Given the description of an element on the screen output the (x, y) to click on. 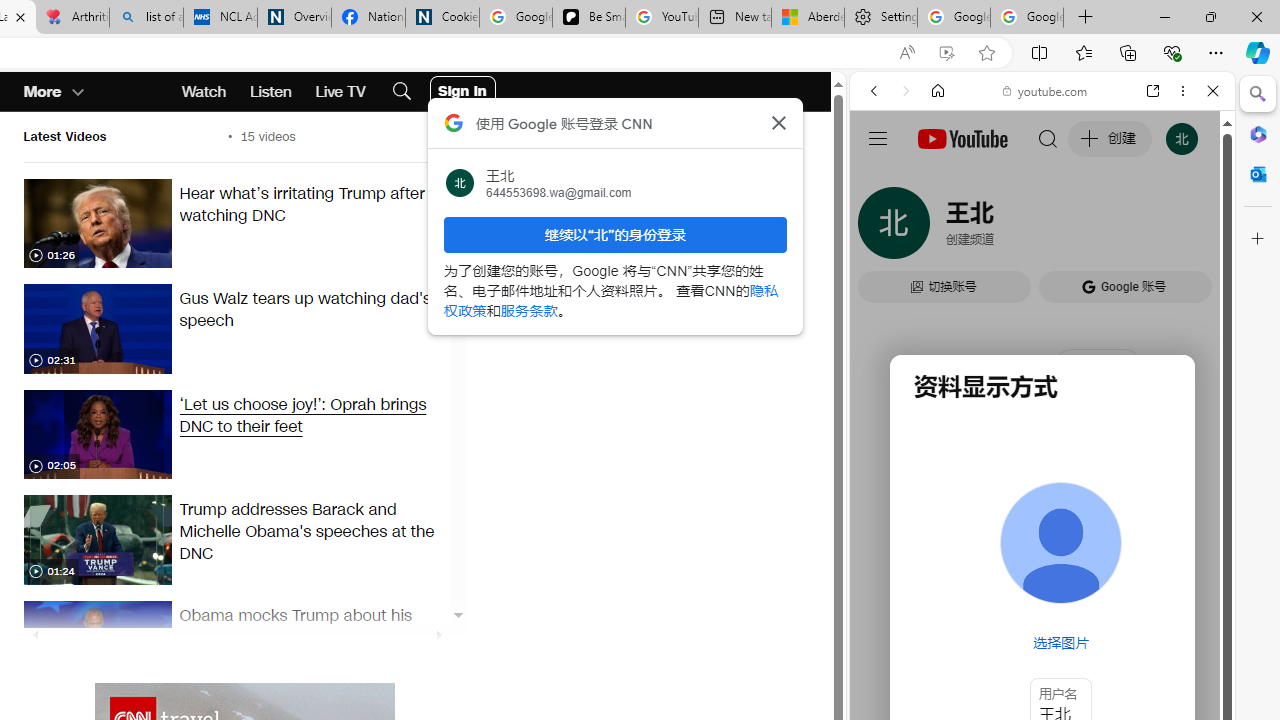
YouTube (1034, 296)
trumo.jpg (97, 539)
Search videos from youtube.com (1005, 657)
